Given the description of an element on the screen output the (x, y) to click on. 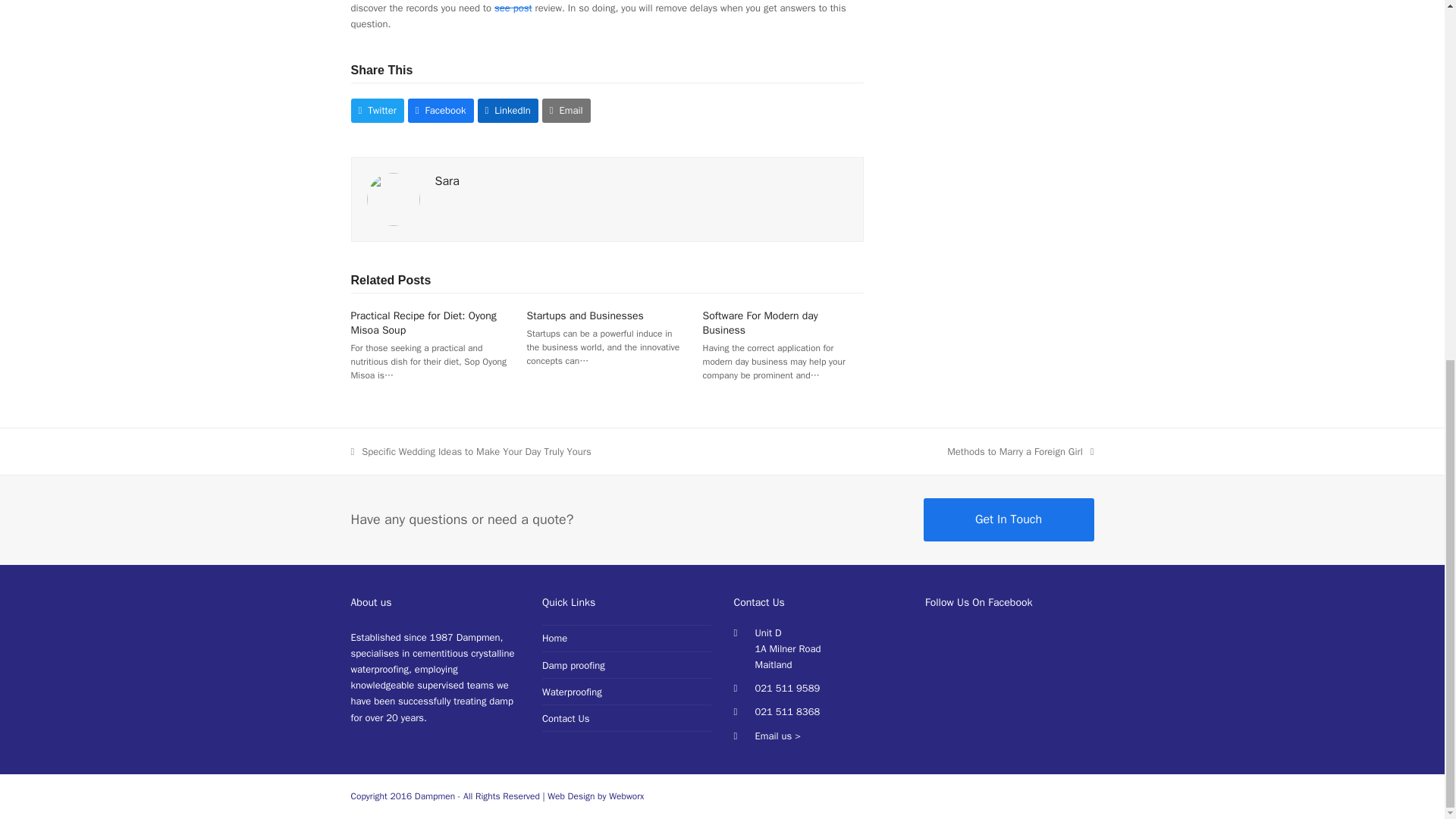
Software For Modern day Business (760, 322)
Visit Author Page (393, 197)
Email (566, 110)
Dampmen (434, 796)
Startups and Businesses (1020, 451)
Visit Author Page (585, 315)
Web Design by Webworx (447, 181)
Waterproofing (595, 796)
LinkedIn (571, 691)
